Given the description of an element on the screen output the (x, y) to click on. 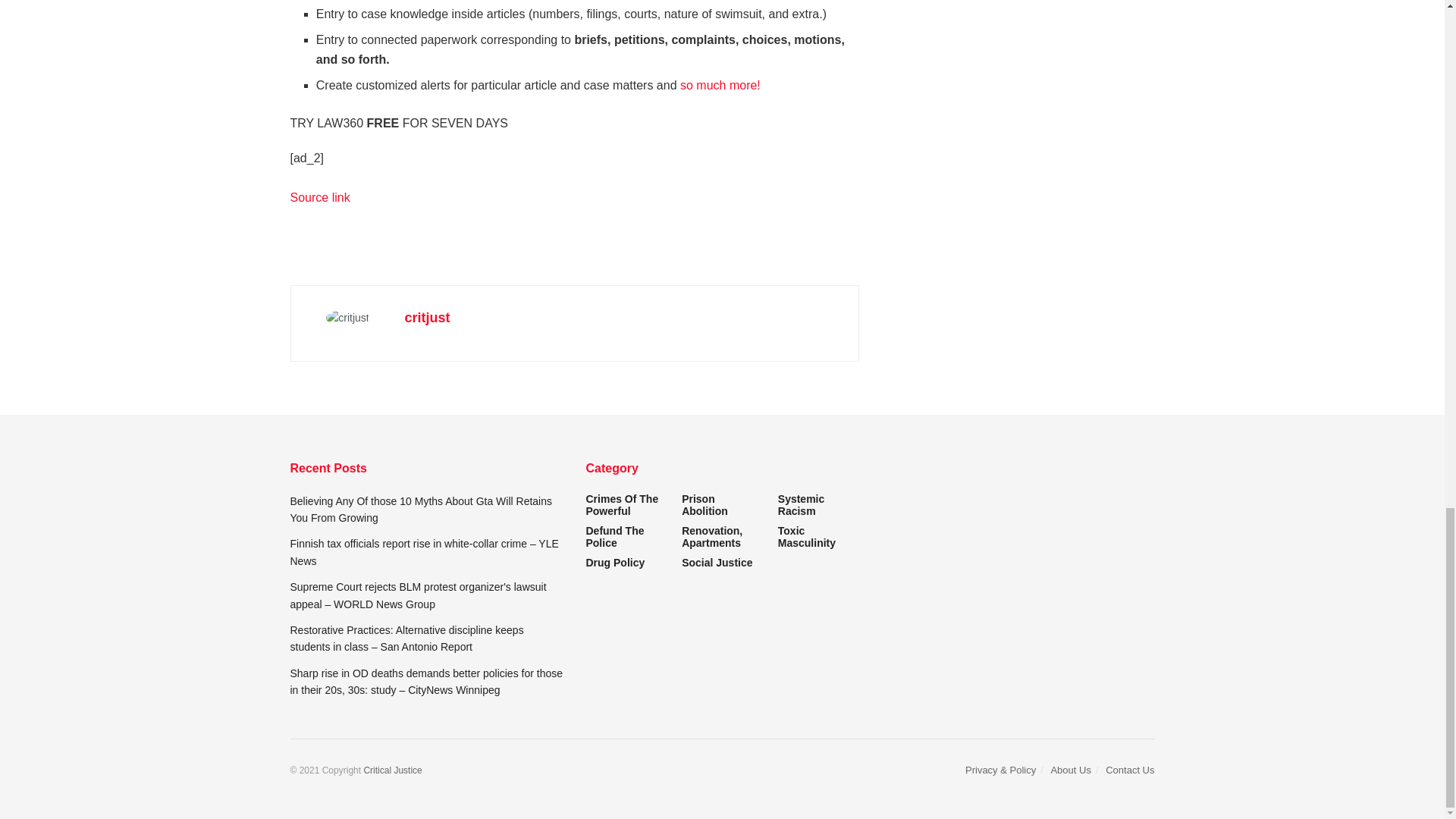
critjust (426, 317)
About Law360 (719, 84)
so much more! (719, 84)
Source link (319, 196)
